Given the description of an element on the screen output the (x, y) to click on. 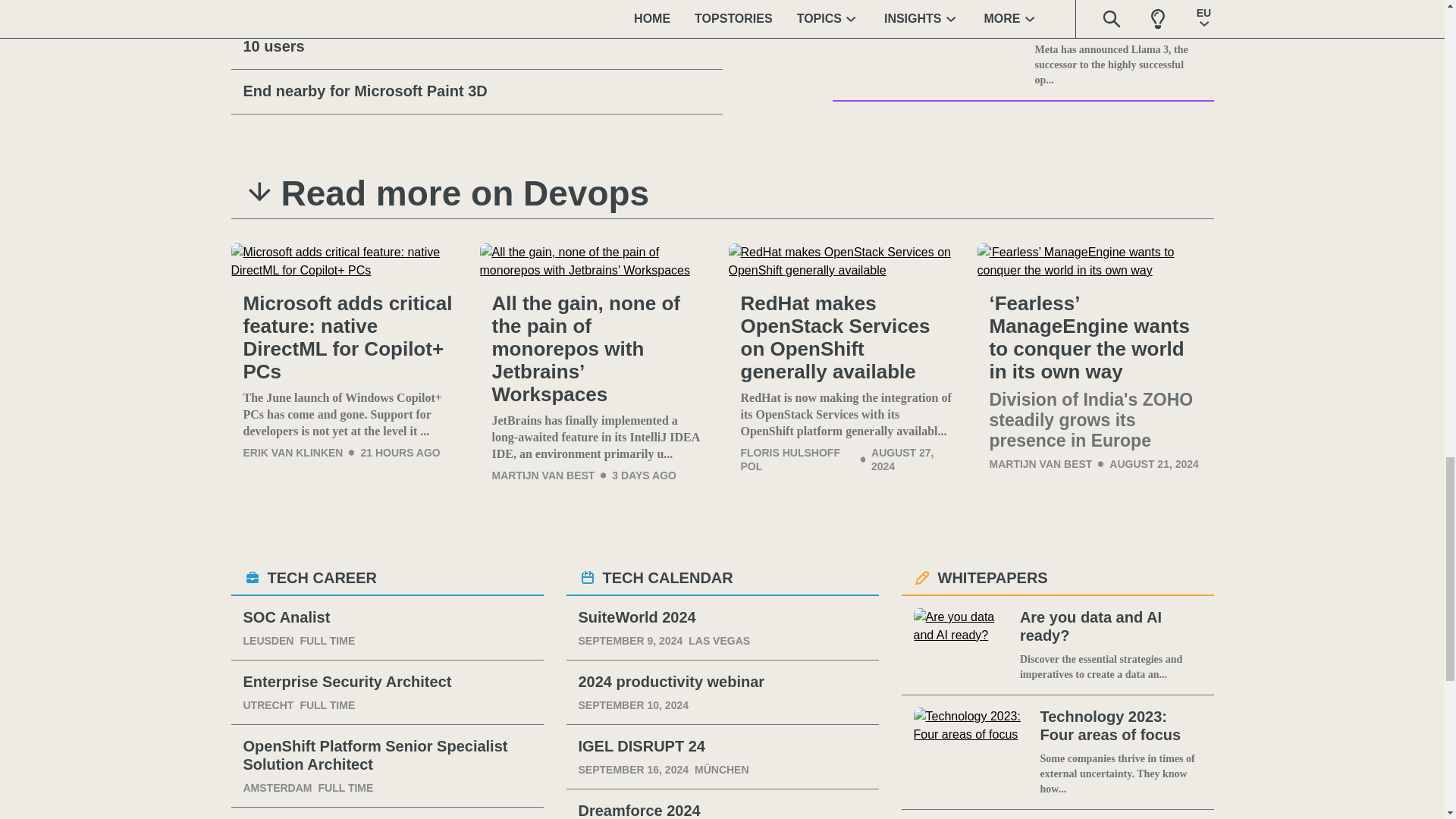
End nearby for Microsoft Paint 3D (476, 91)
